Given the description of an element on the screen output the (x, y) to click on. 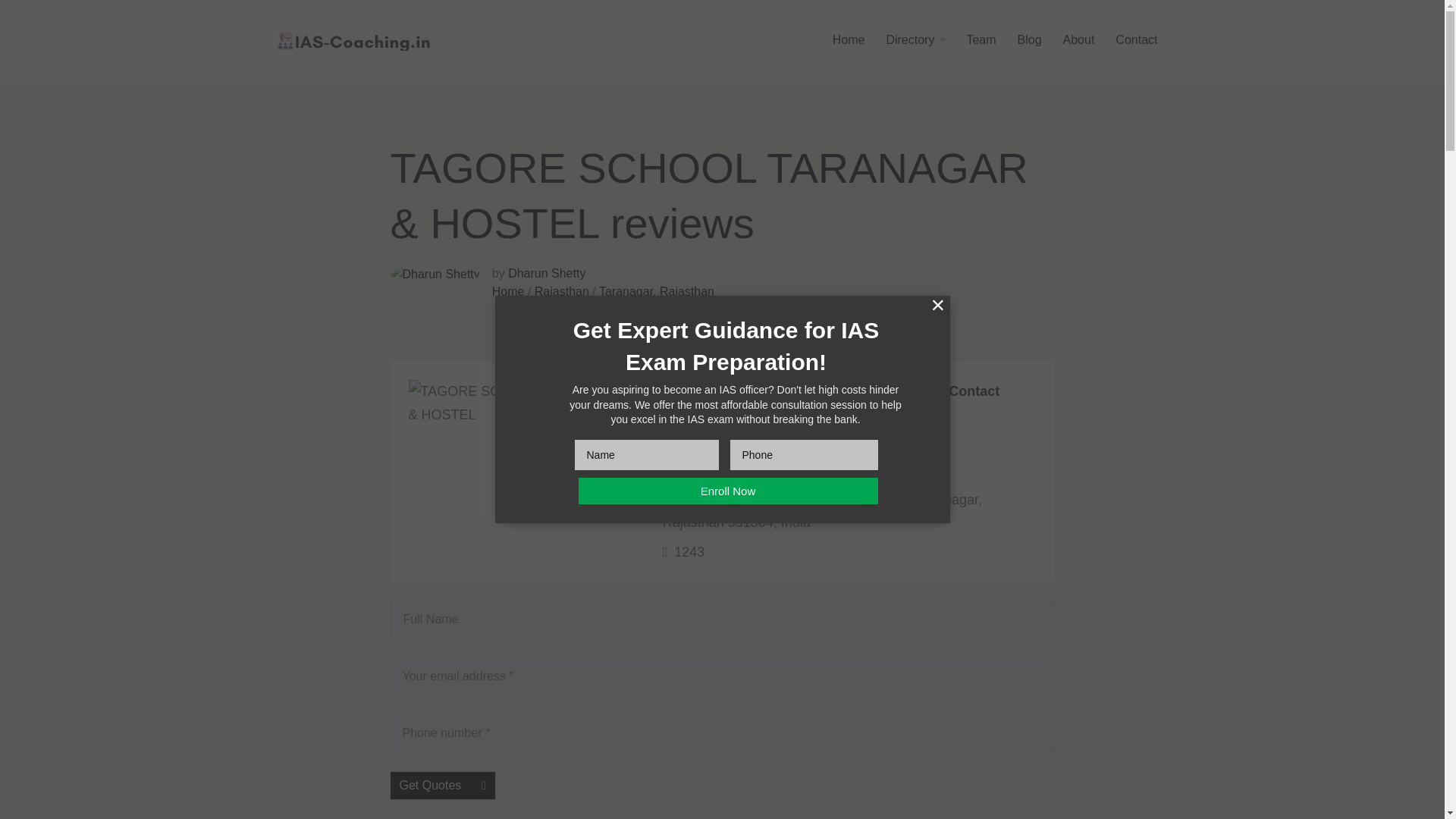
Directory (915, 39)
Home (849, 39)
